Given the description of an element on the screen output the (x, y) to click on. 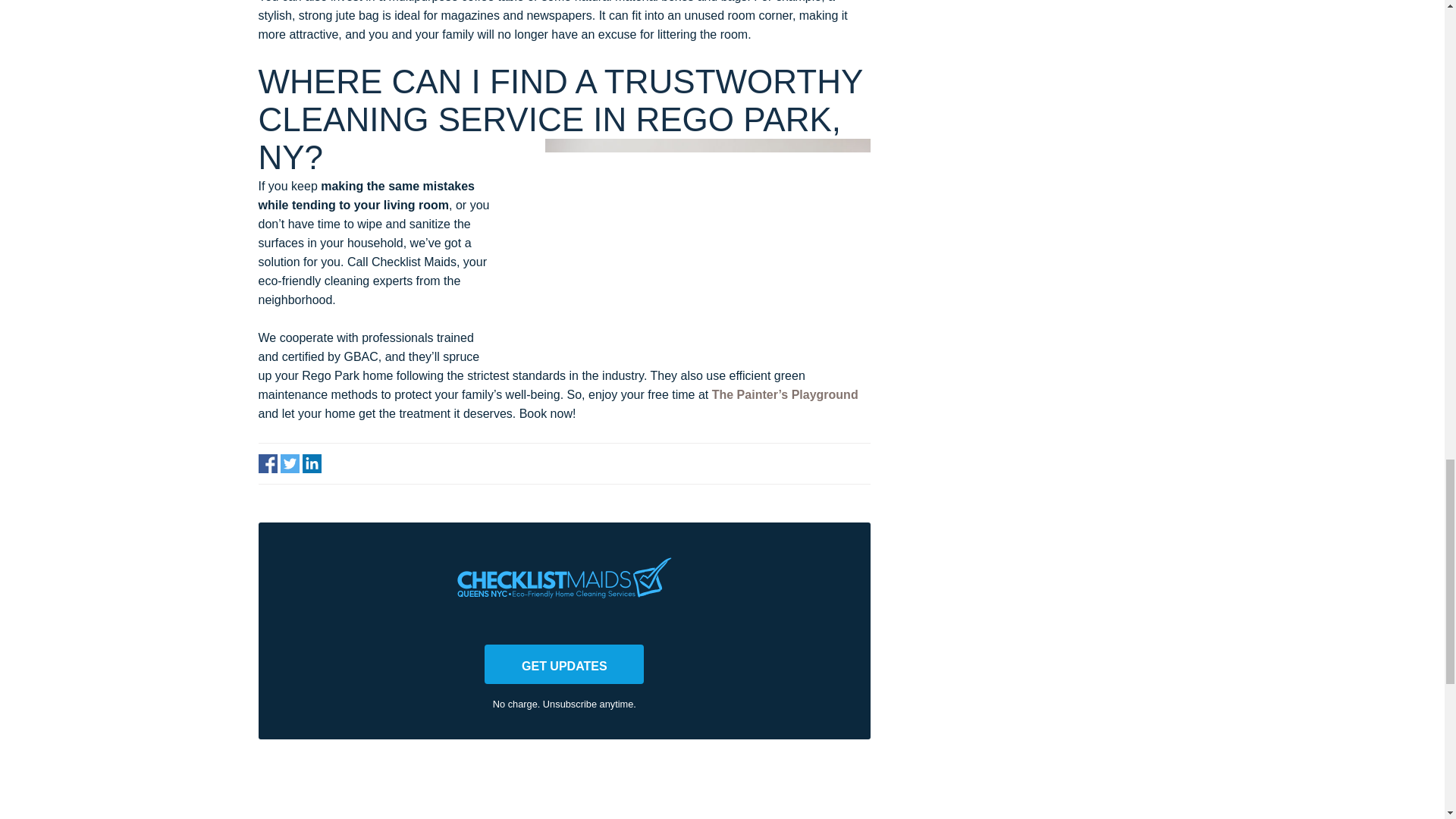
GET UPDATES (563, 663)
